Given the description of an element on the screen output the (x, y) to click on. 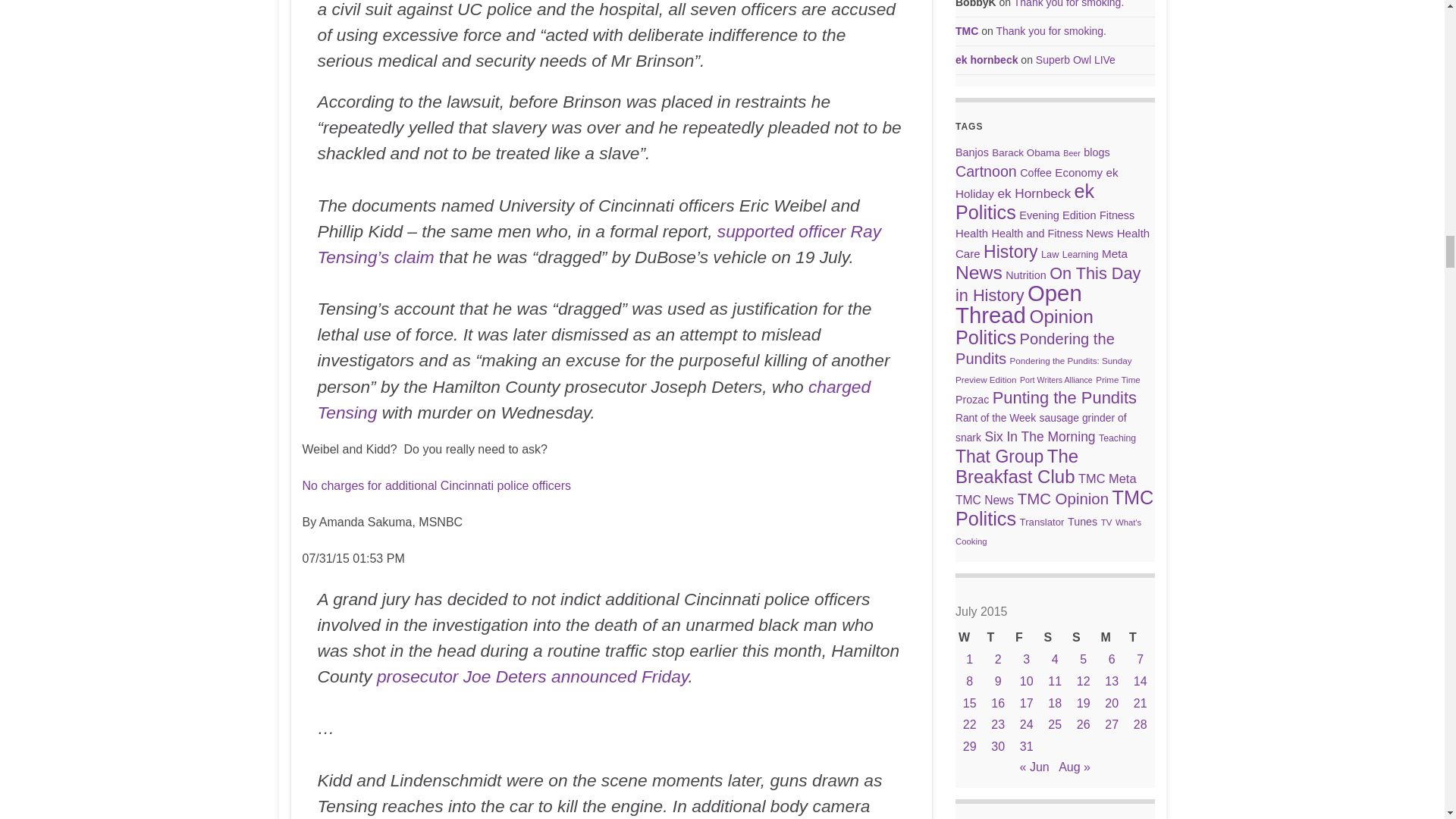
charged Tensing (593, 399)
